Given the description of an element on the screen output the (x, y) to click on. 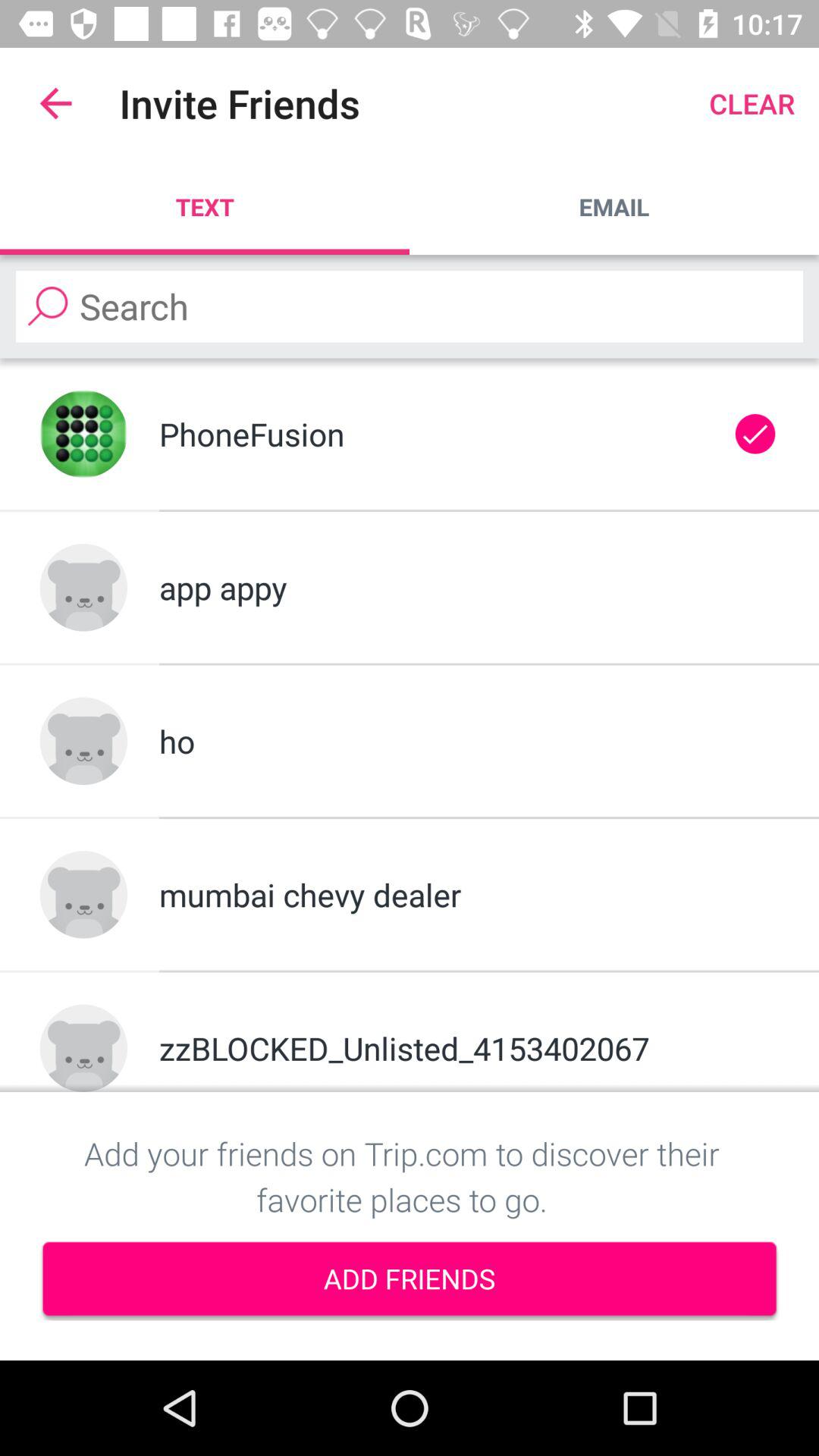
jump to mumbai chevy dealer item (469, 894)
